Given the description of an element on the screen output the (x, y) to click on. 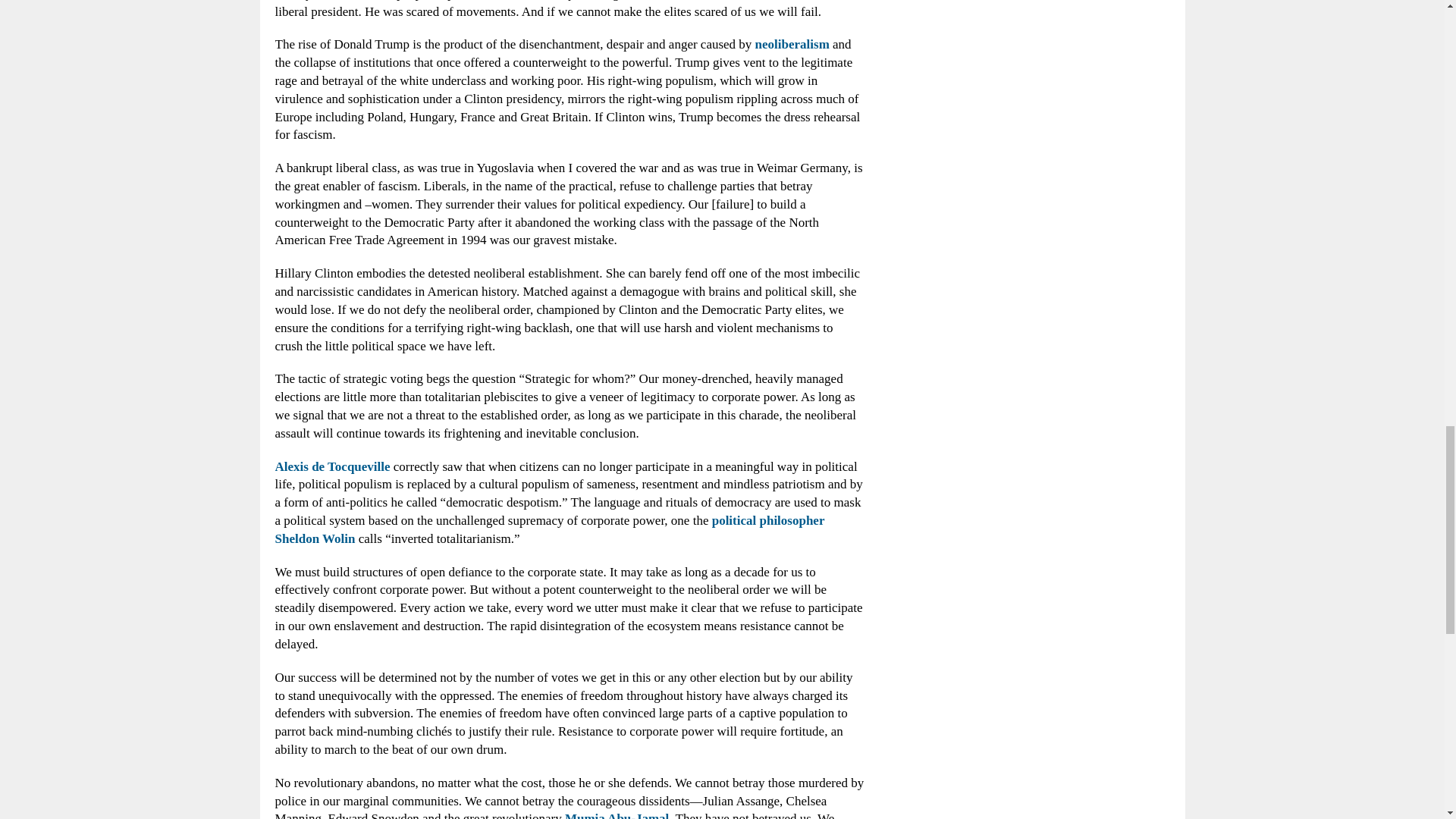
neoliberalism (792, 43)
Mumia Abu-Jamal (616, 815)
political philosopher Sheldon Wolin (549, 529)
Alexis de Tocqueville (332, 466)
